Given the description of an element on the screen output the (x, y) to click on. 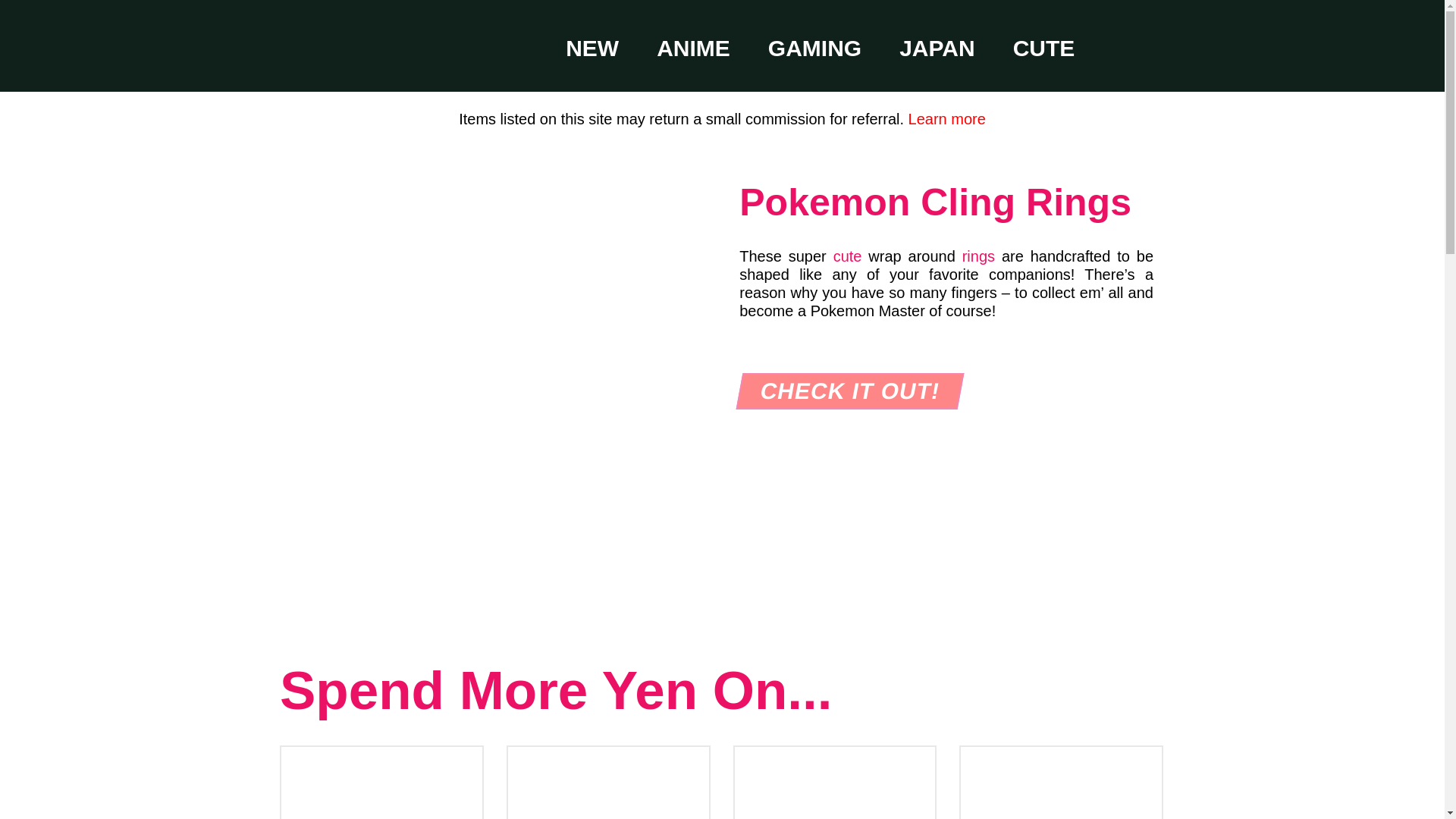
cute (846, 256)
Attack On Titan Annie's Ring - Shut Up And Take My Yen (833, 782)
CHECK IT OUT! (847, 391)
Parasyte Migi Ring - Shut Up And Take My Yen (381, 782)
Pokemon Engagement Ring - Shut Up And Take My Yen (608, 782)
GAMING (814, 48)
CUTE (1044, 48)
NEW (592, 48)
rings (978, 256)
ANIME (693, 48)
Learn more (946, 118)
JAPAN (936, 48)
